Given the description of an element on the screen output the (x, y) to click on. 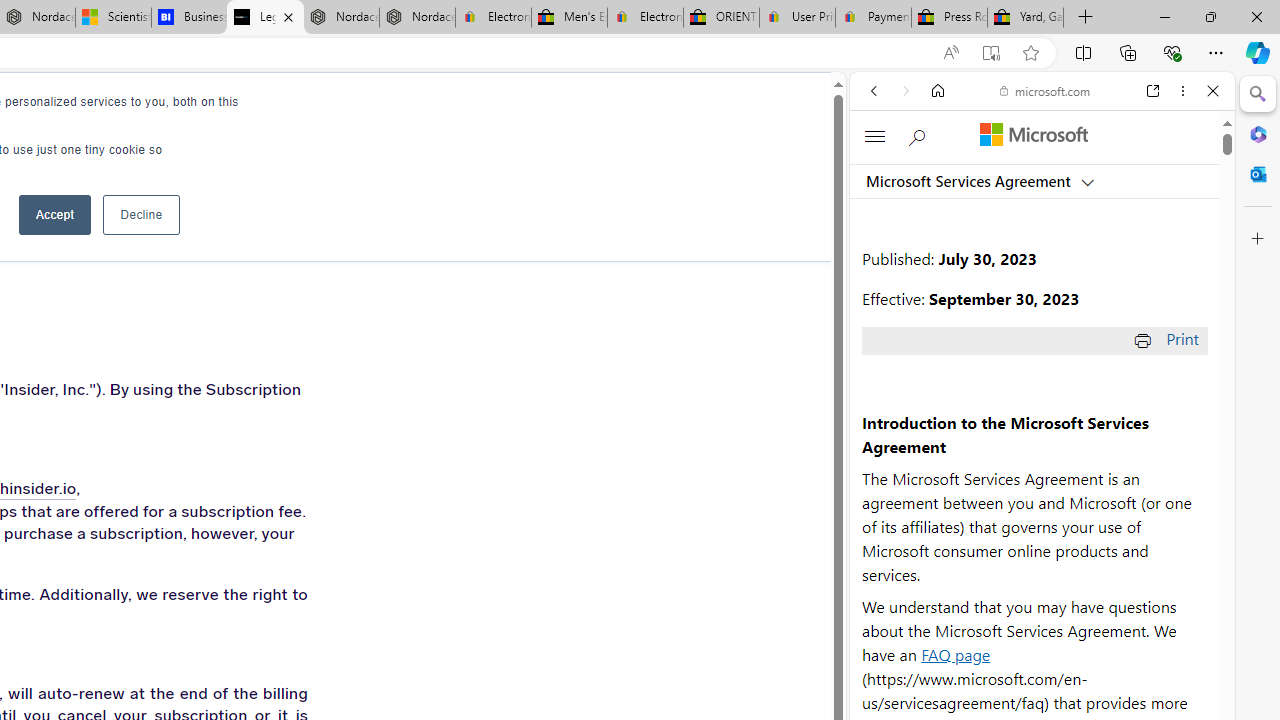
microsoft.com (1045, 90)
CONTACT US (377, 110)
Press Room - eBay Inc. (948, 17)
Minimize Search pane (1258, 94)
Print (1168, 338)
FAQ page (955, 654)
